Given the description of an element on the screen output the (x, y) to click on. 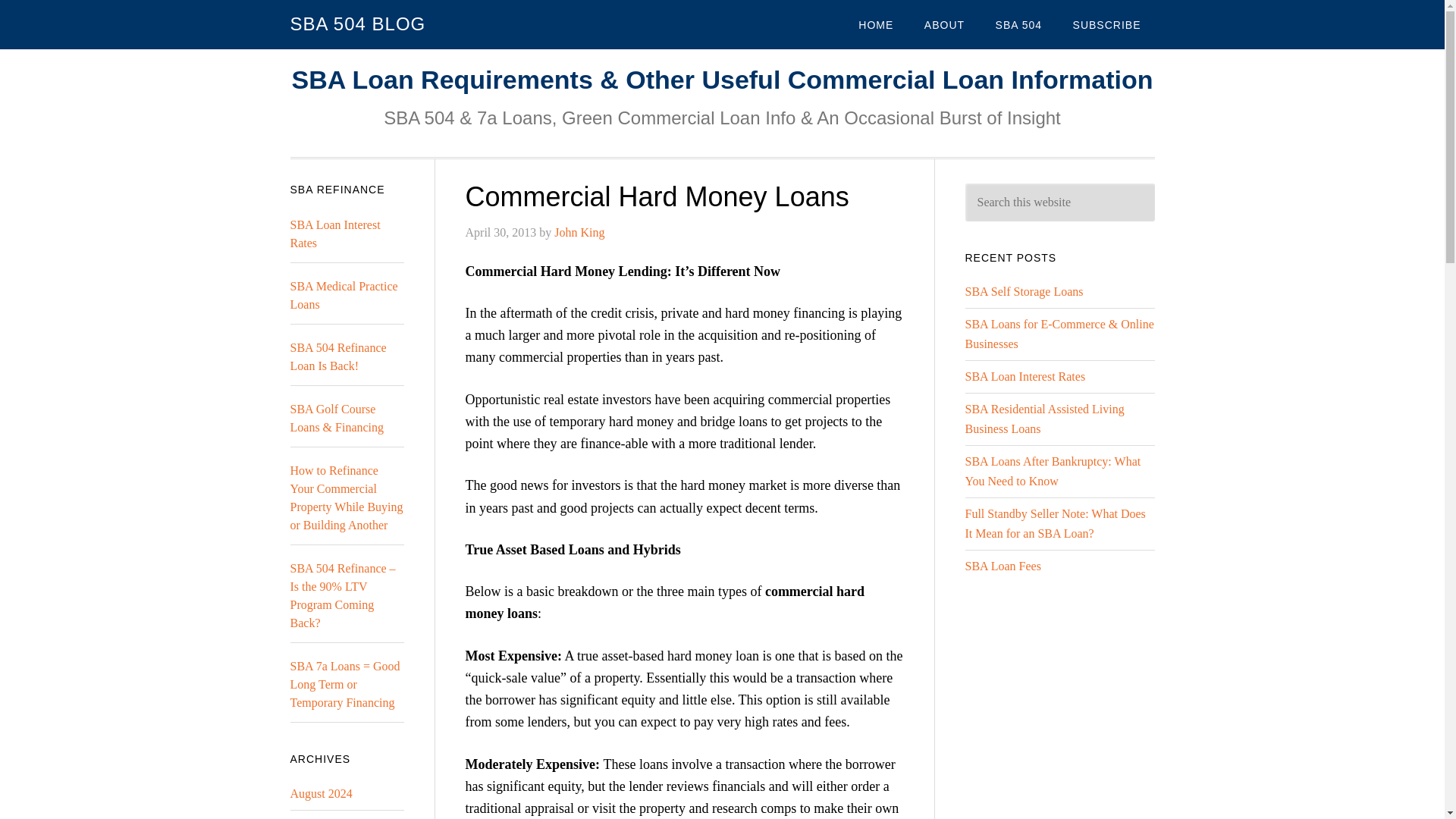
SBA Self Storage Loans (1023, 291)
August 2024 (320, 793)
ABOUT (944, 24)
SBA Loan Interest Rates (334, 233)
Full Standby Seller Note: What Does It Mean for an SBA Loan? (1053, 522)
SBA 504 Refinance Loan Is Back! (337, 356)
SBA Loan Fees (1002, 565)
